Given the description of an element on the screen output the (x, y) to click on. 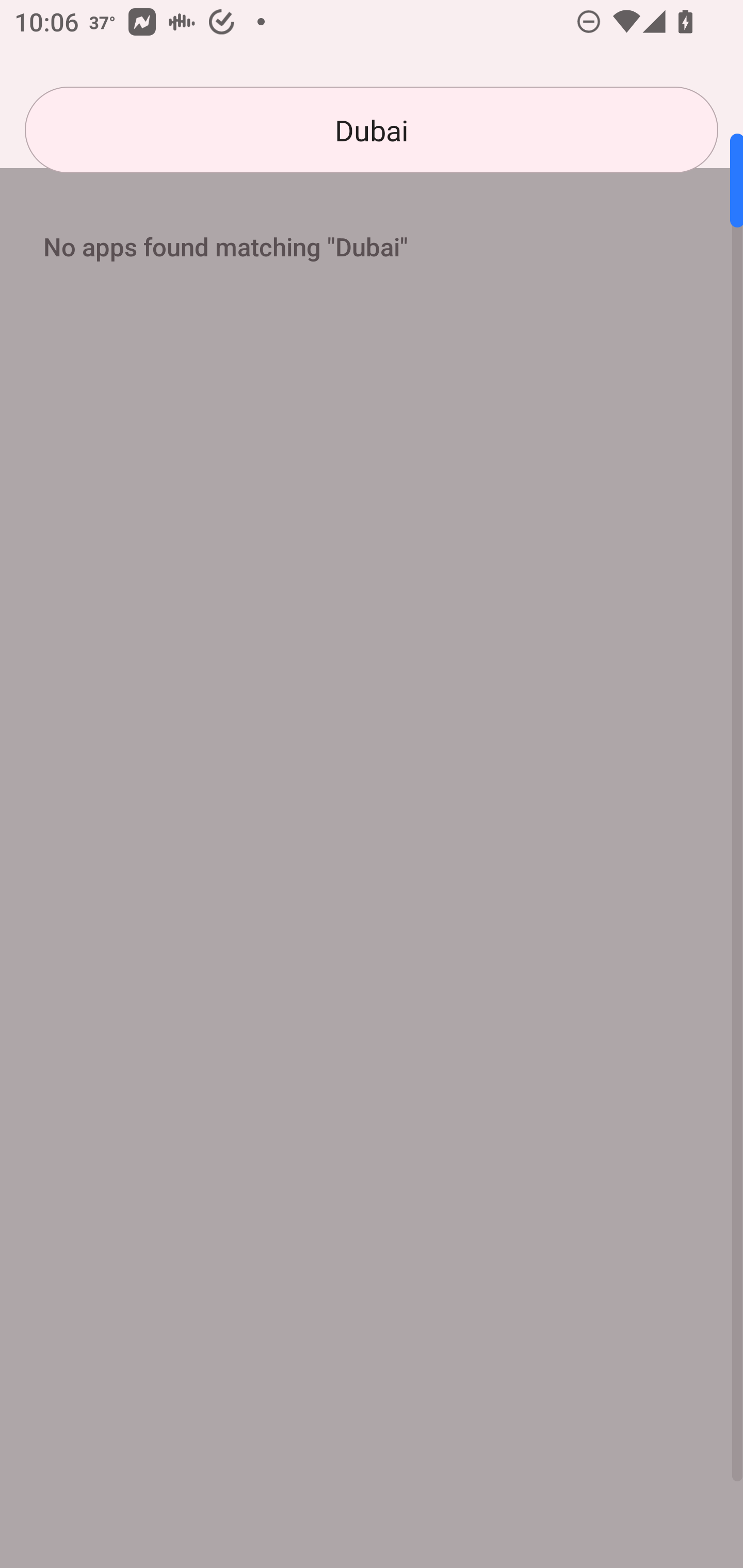
Dubai (371, 130)
